Given the description of an element on the screen output the (x, y) to click on. 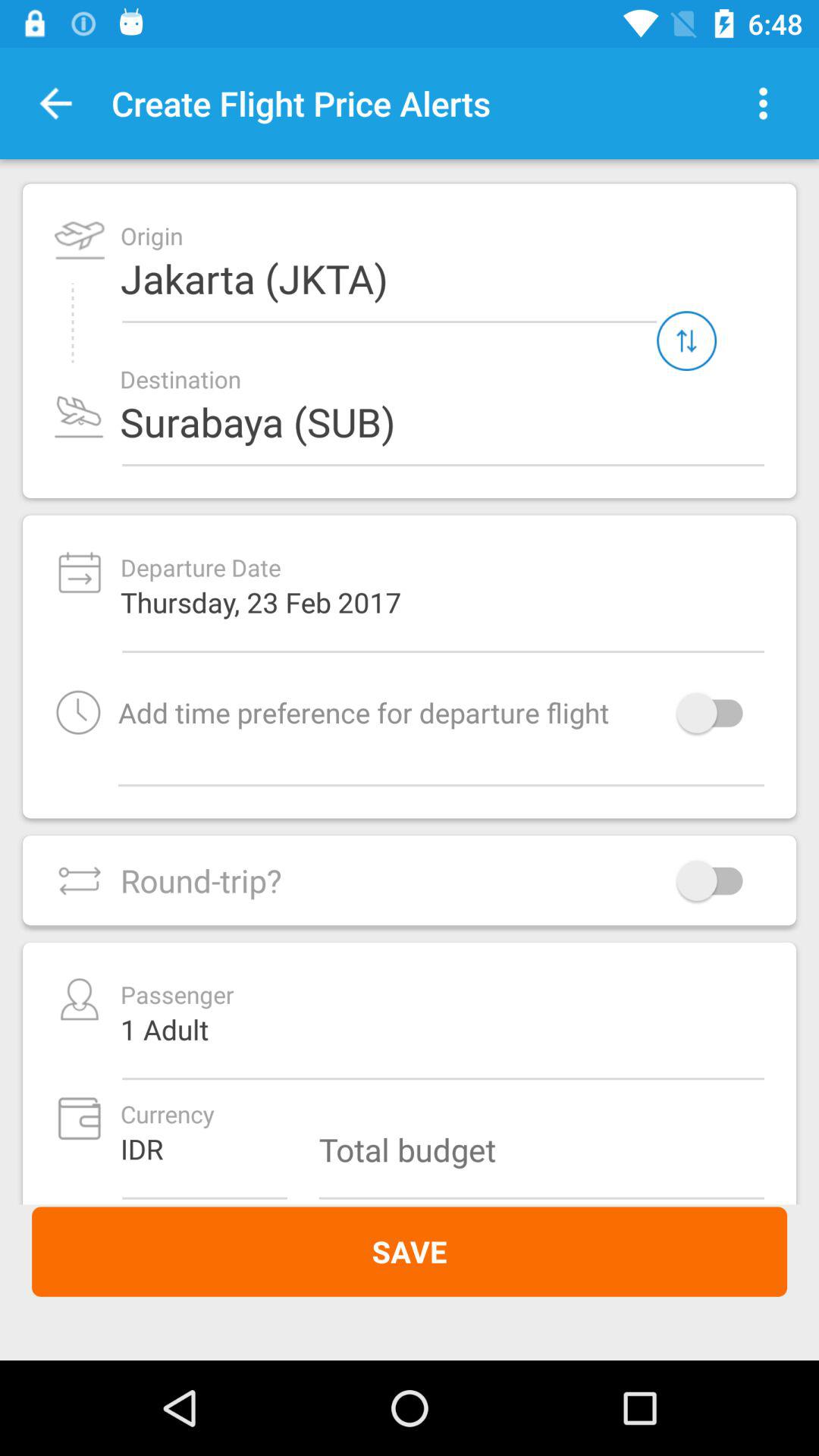
choose icon to the right of the add time preference (716, 712)
